Given the description of an element on the screen output the (x, y) to click on. 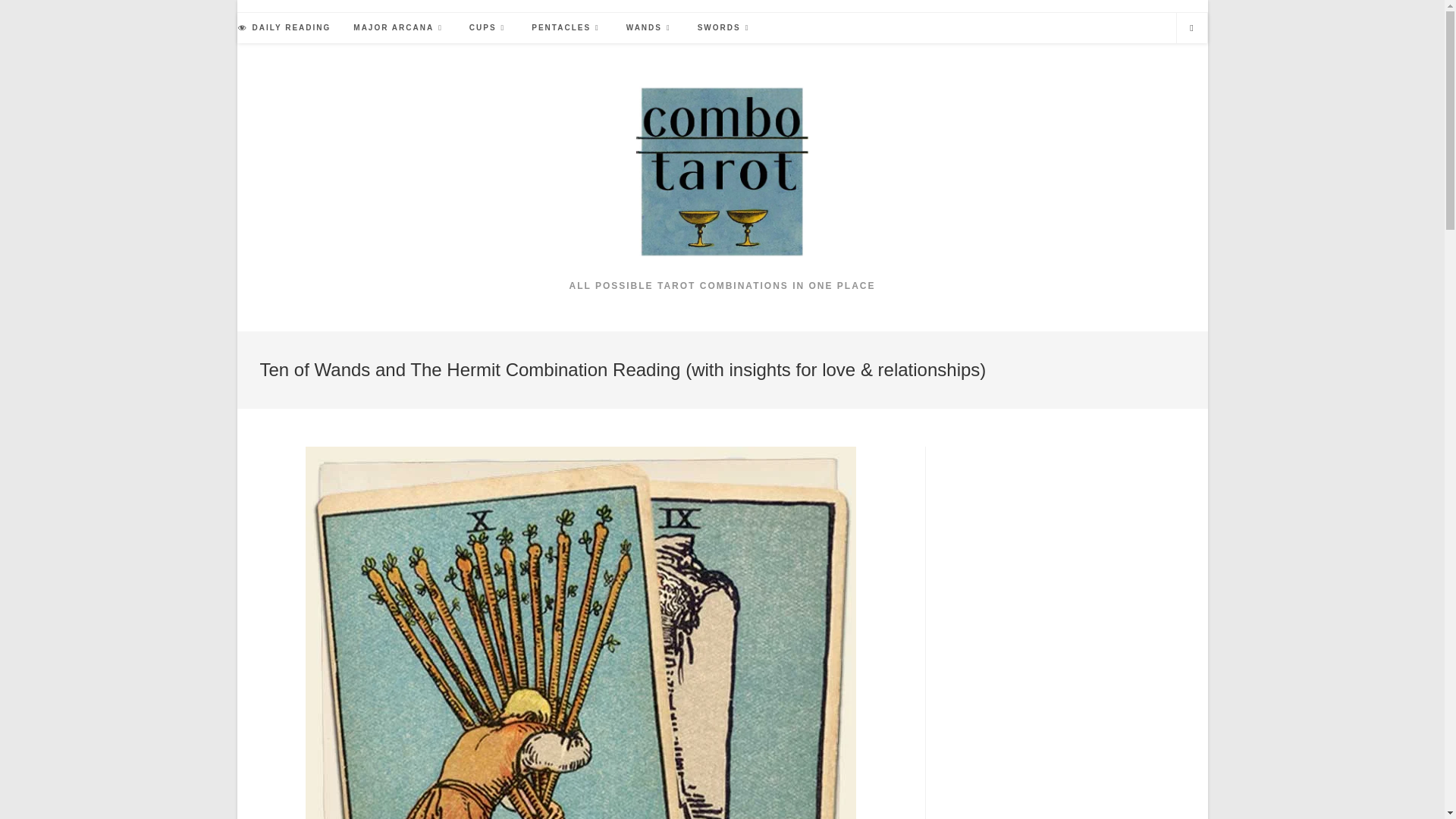
CUPS (488, 28)
MAJOR ARCANA (400, 28)
DAILY READING (283, 28)
